Given the description of an element on the screen output the (x, y) to click on. 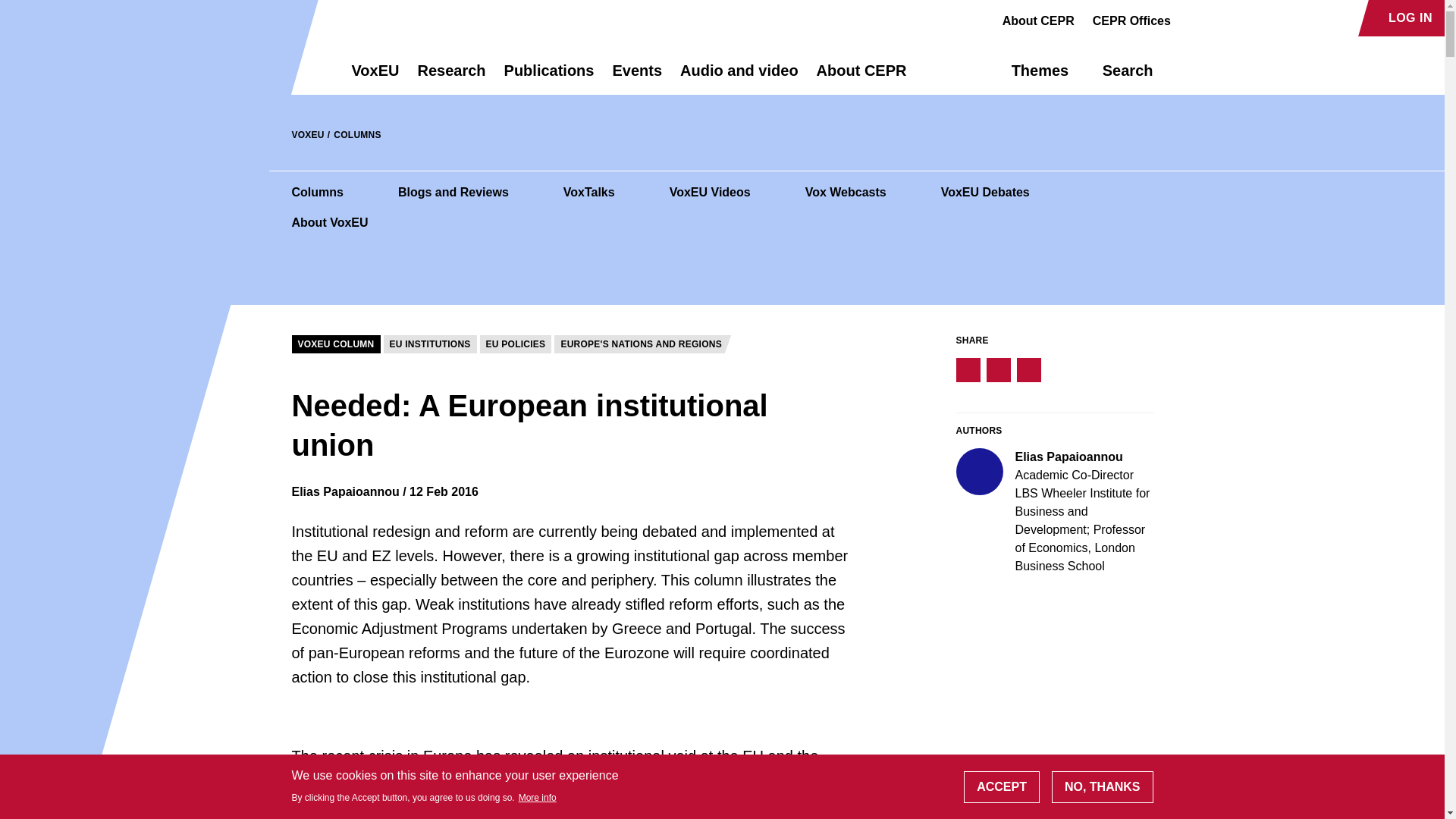
Go to Linkedin profile (1243, 18)
Go to Audioboom profile (1217, 17)
Research (450, 77)
Return to the homepage (293, 69)
Audio and video (738, 77)
Events (636, 77)
VoxEU (375, 77)
Go to Facebook profile (1190, 17)
Publications (548, 77)
